Given the description of an element on the screen output the (x, y) to click on. 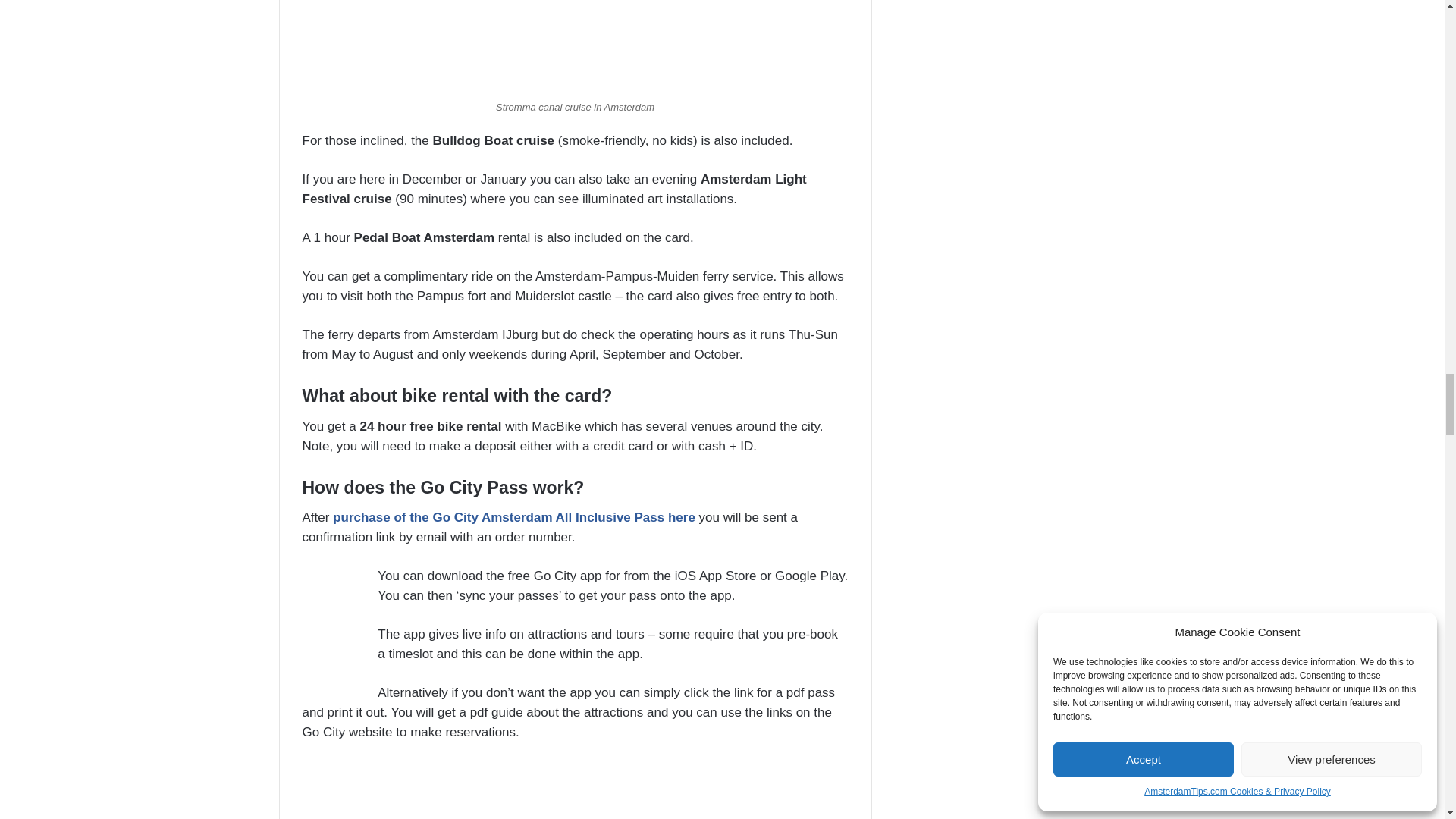
purchase of the Go City Amsterdam All Inclusive Pass here (514, 517)
